Given the description of an element on the screen output the (x, y) to click on. 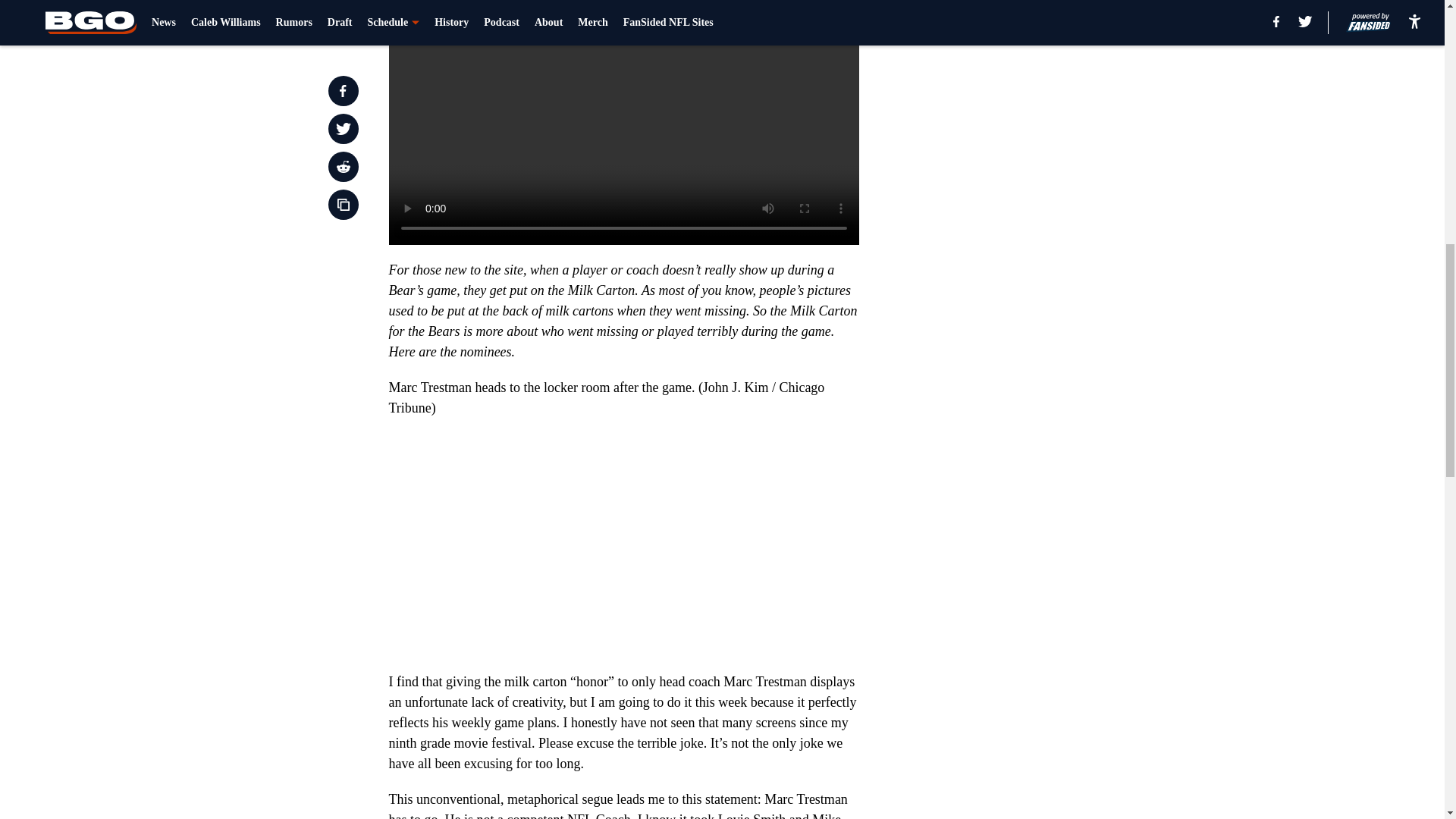
3rd party ad content (1047, 84)
3rd party ad content (1047, 294)
